Given the description of an element on the screen output the (x, y) to click on. 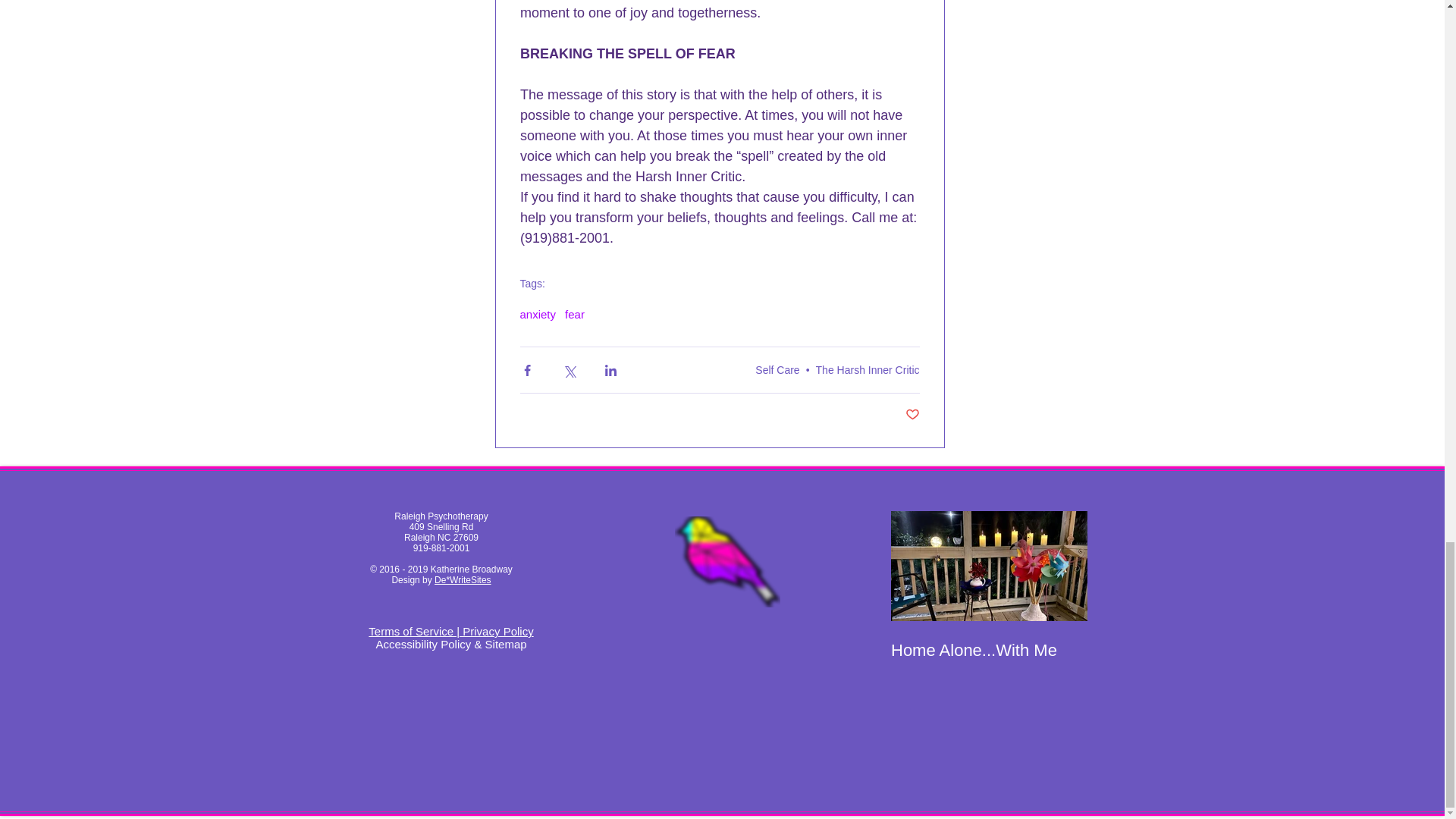
anxiety (537, 314)
Home Alone...With Me (987, 650)
fear (574, 314)
Doubt, Restlessness and Boredom (1185, 660)
Self Care (777, 369)
The Harsh Inner Critic (867, 369)
Post not marked as liked (912, 415)
